Given the description of an element on the screen output the (x, y) to click on. 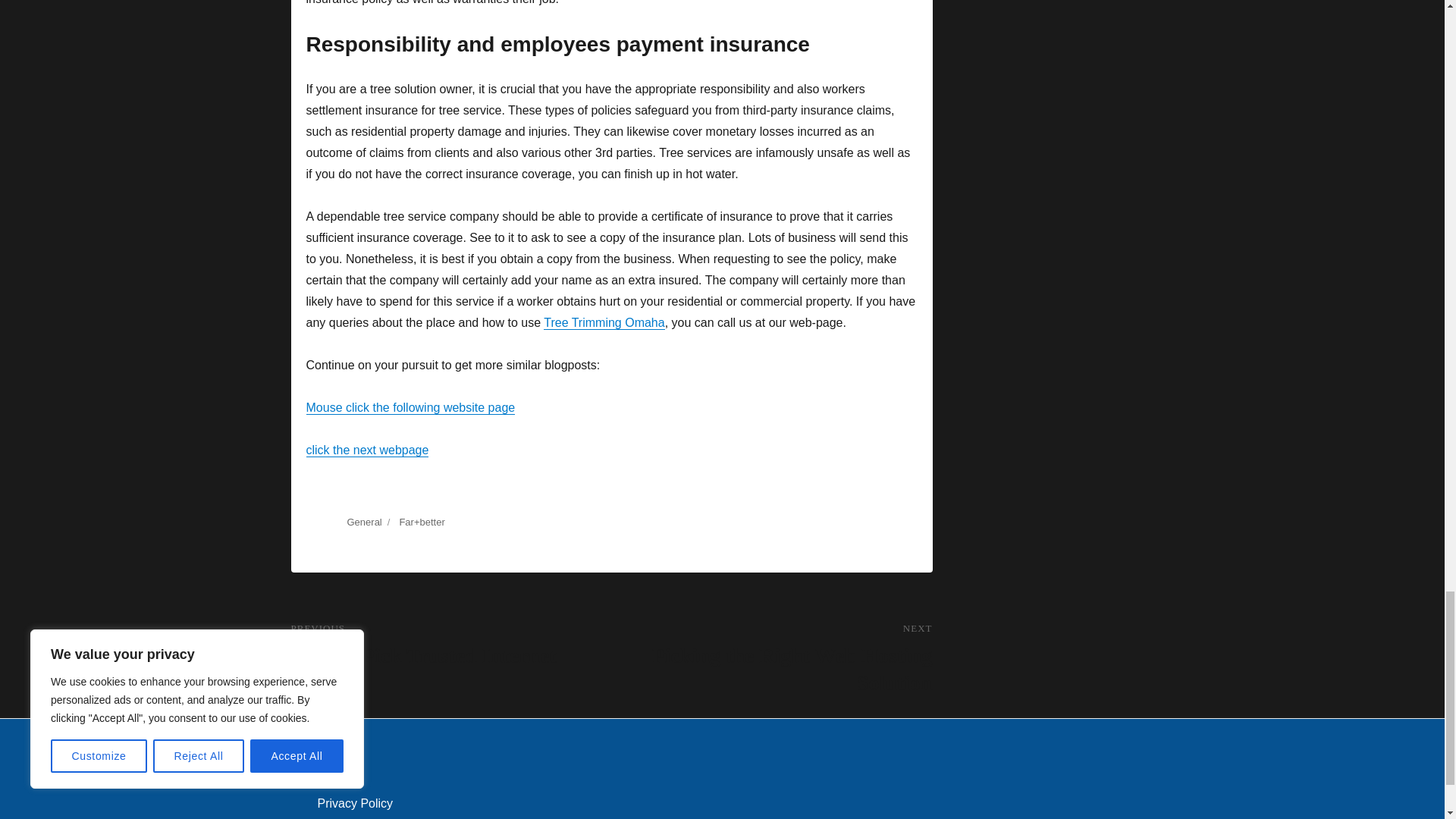
Tree Trimming Omaha (603, 322)
Mouse click the following website page (410, 407)
General (364, 521)
click the next webpage (771, 658)
